Given the description of an element on the screen output the (x, y) to click on. 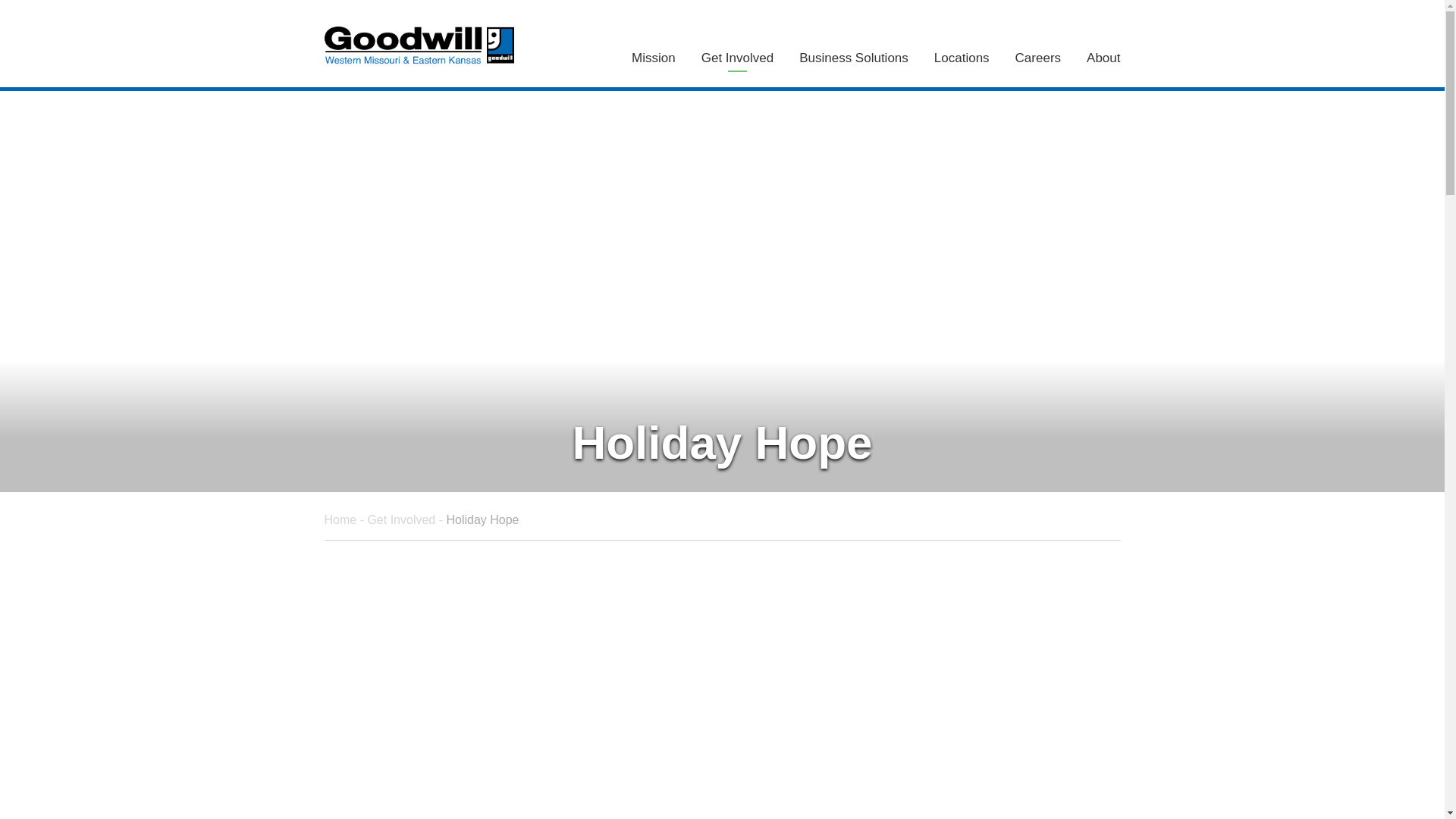
Mission (653, 61)
Locations (962, 61)
Home (340, 519)
About (1096, 61)
Get Involved (400, 519)
Get Involved (737, 61)
Business Solutions (853, 61)
Careers (1038, 61)
Holiday Hope (481, 519)
